Given the description of an element on the screen output the (x, y) to click on. 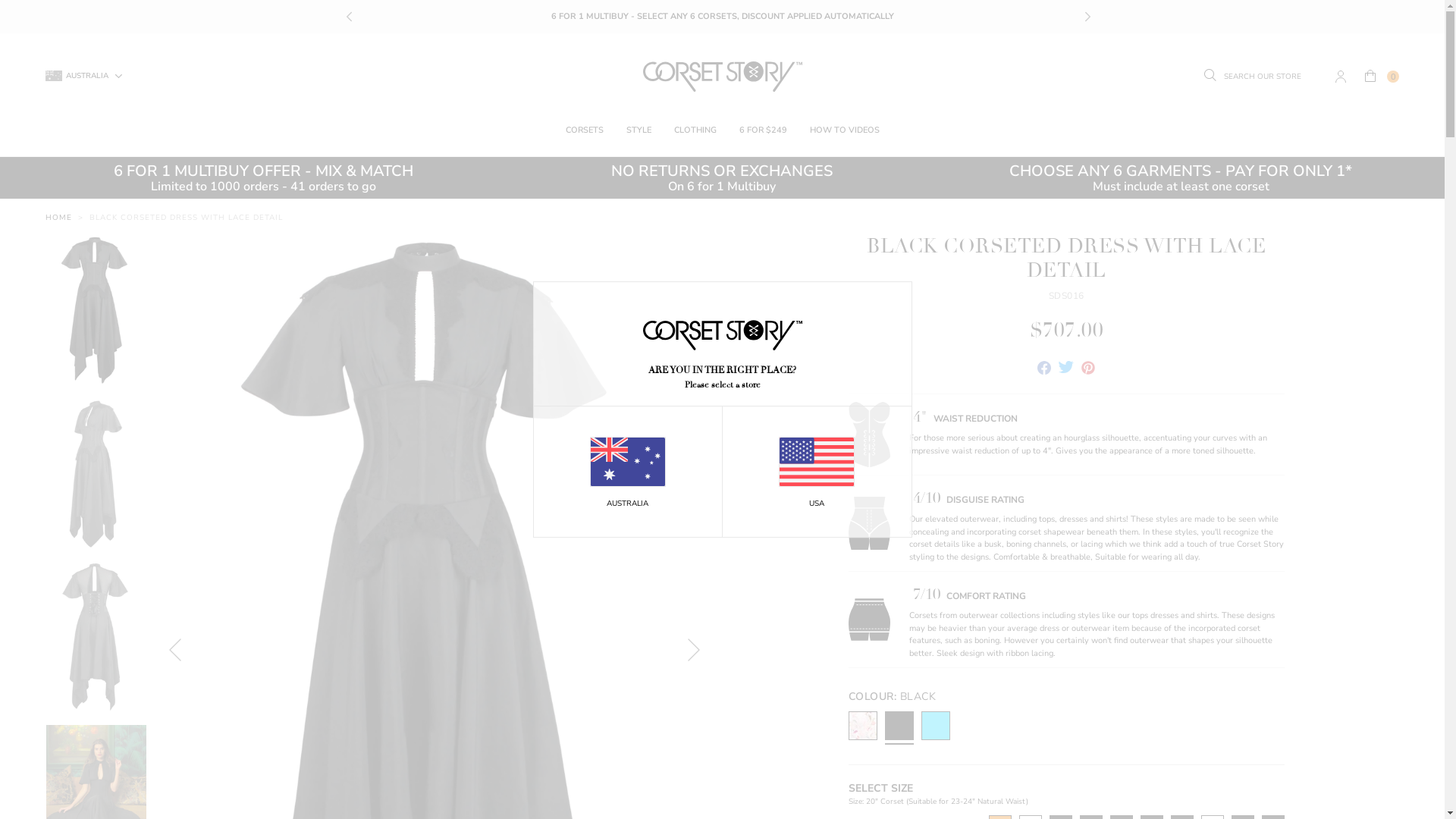
Pin on Pinterest Element type: text (1088, 369)
Share on Facebook Element type: text (1044, 369)
Next Element type: text (693, 649)
Previous Element type: text (350, 16)
USA Element type: text (815, 472)
0 Element type: text (1382, 76)
CORSETS Element type: text (584, 130)
CLOTHING Element type: text (694, 130)
Tweet on Twitter Element type: text (1065, 369)
6 FOR $249 Element type: text (762, 130)
AUSTRALIA Element type: text (627, 472)
STYLE Element type: text (638, 130)
Previous Element type: text (174, 649)
SIZE GUIDE (Find your Perfect Corset) Element type: text (722, 16)
HOME Element type: text (58, 217)
HOW TO VIDEOS Element type: text (844, 130)
NO RETURNS OR EXCHANGES
On 6 for 1 Multibuy Element type: text (722, 177)
Next Element type: text (1086, 16)
